Given the description of an element on the screen output the (x, y) to click on. 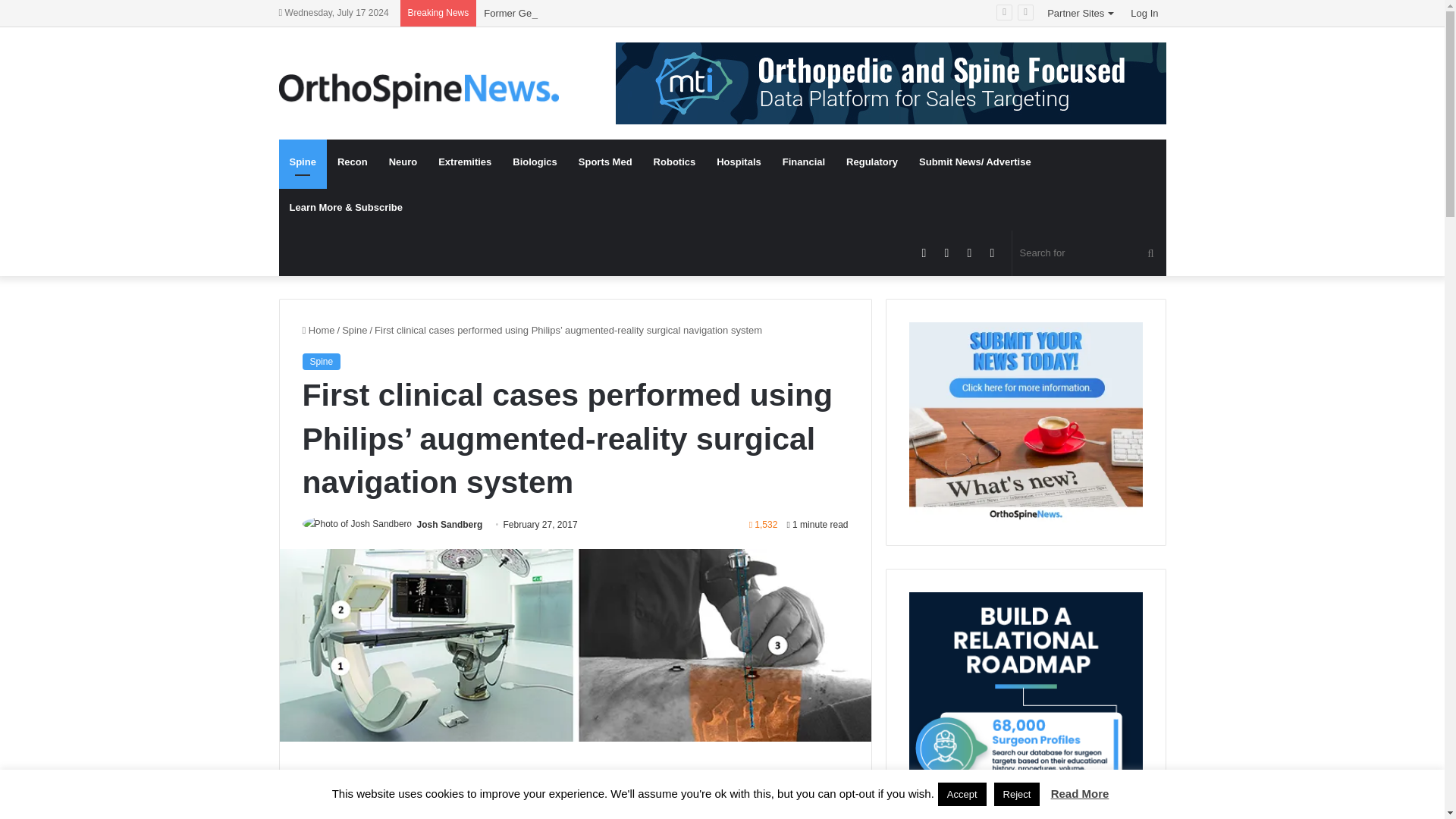
Extremities (465, 162)
Search for (1088, 253)
Spine (302, 162)
Robotics (674, 162)
Spine (354, 329)
Regulatory (871, 162)
Financial (803, 162)
Partner Sites (1080, 13)
Hospitals (738, 162)
Josh Sandberg (449, 524)
Sports Med (605, 162)
Log In (1144, 13)
Josh Sandberg (449, 524)
Biologics (534, 162)
Home (317, 329)
